Given the description of an element on the screen output the (x, y) to click on. 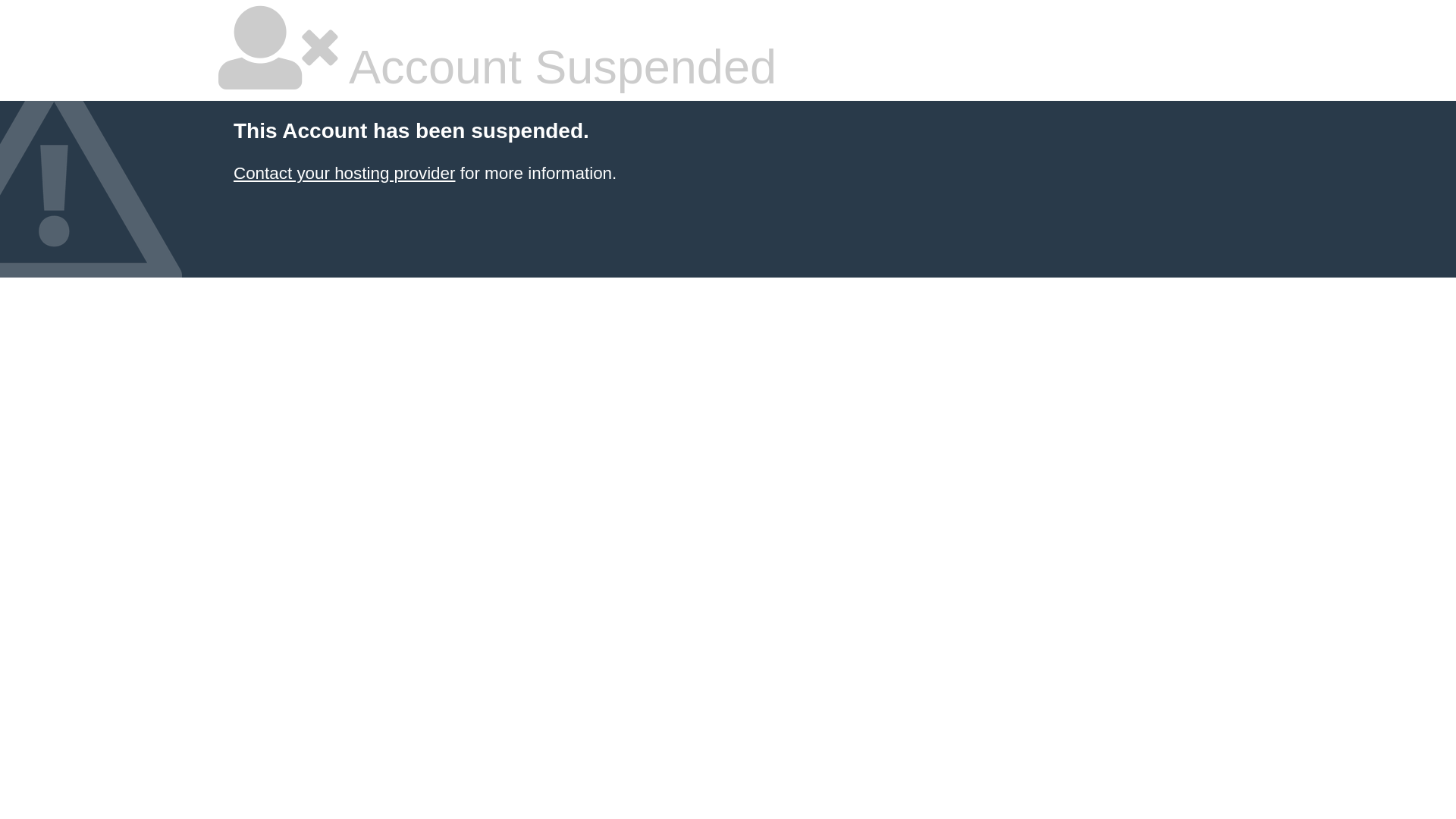
Contact your hosting provider Element type: text (344, 172)
